Given the description of an element on the screen output the (x, y) to click on. 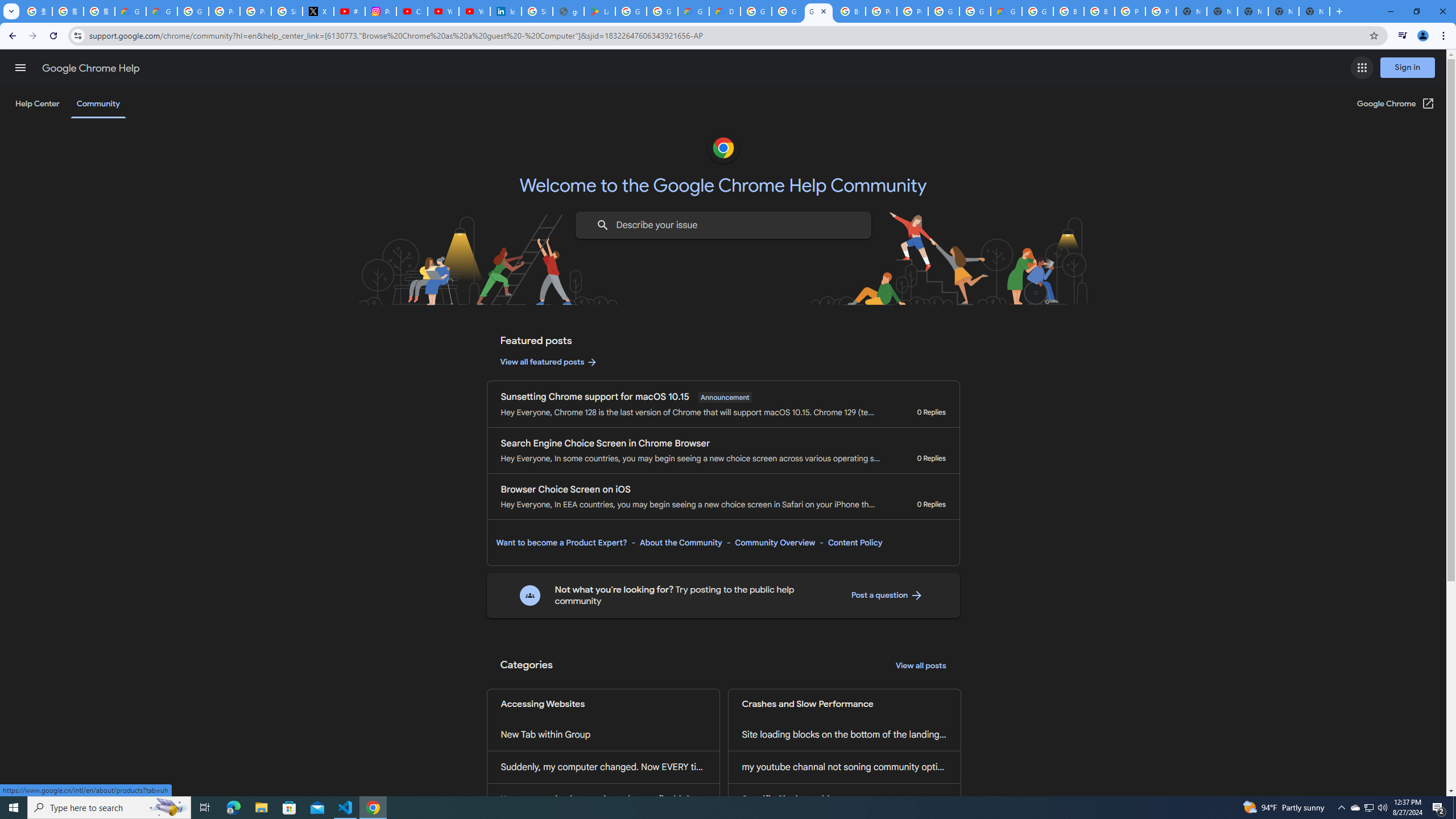
Google Chrome Help (90, 68)
Google Cloud Platform (756, 11)
YouTube Culture & Trends - YouTube Top 10, 2021 (474, 11)
Google Cloud Estimate Summary (1005, 11)
Google Cloud Privacy Notice (130, 11)
Google Chrome (Open in a new window) (1395, 103)
X (318, 11)
